Given the description of an element on the screen output the (x, y) to click on. 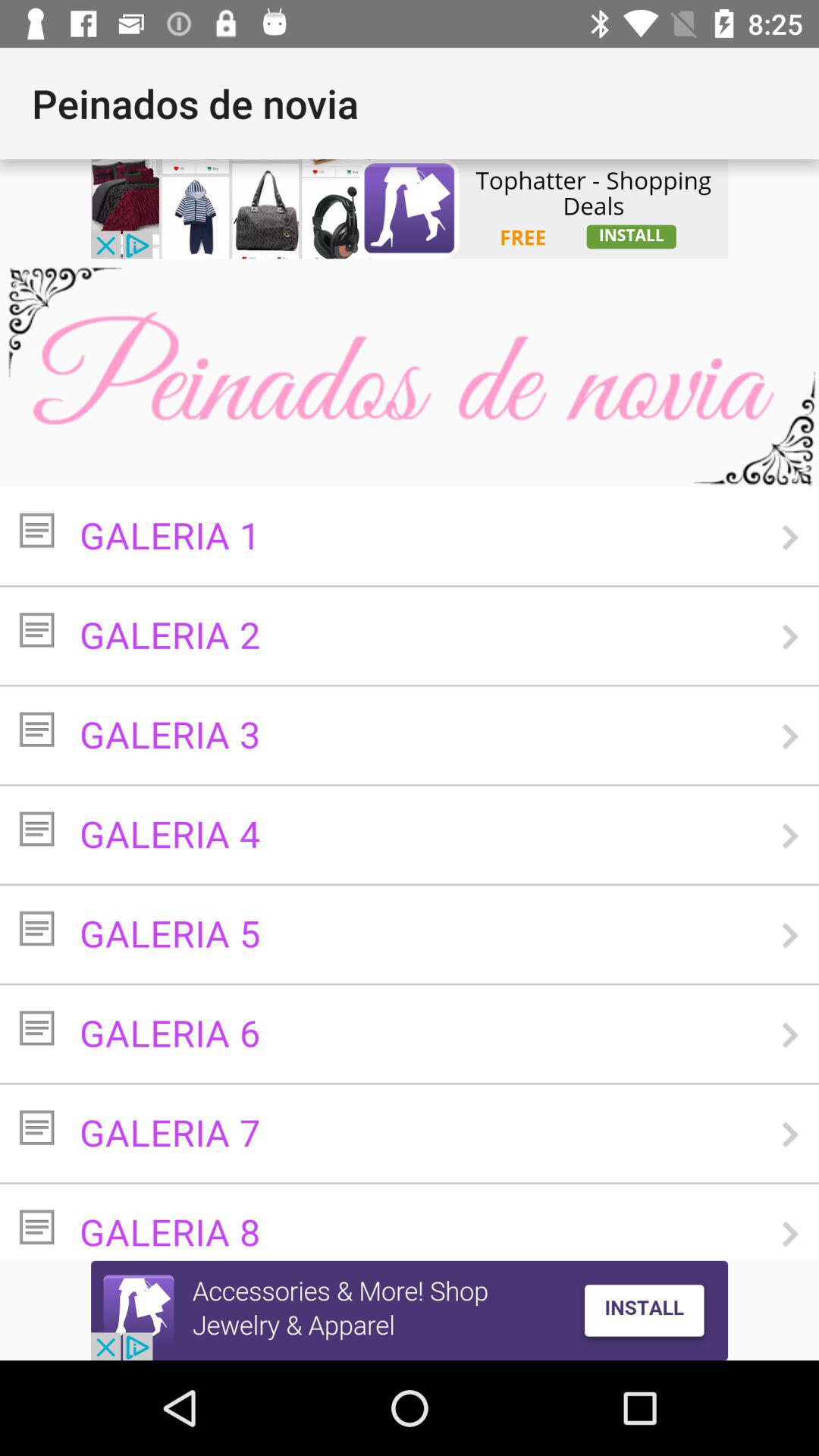
click to install (409, 1310)
